Given the description of an element on the screen output the (x, y) to click on. 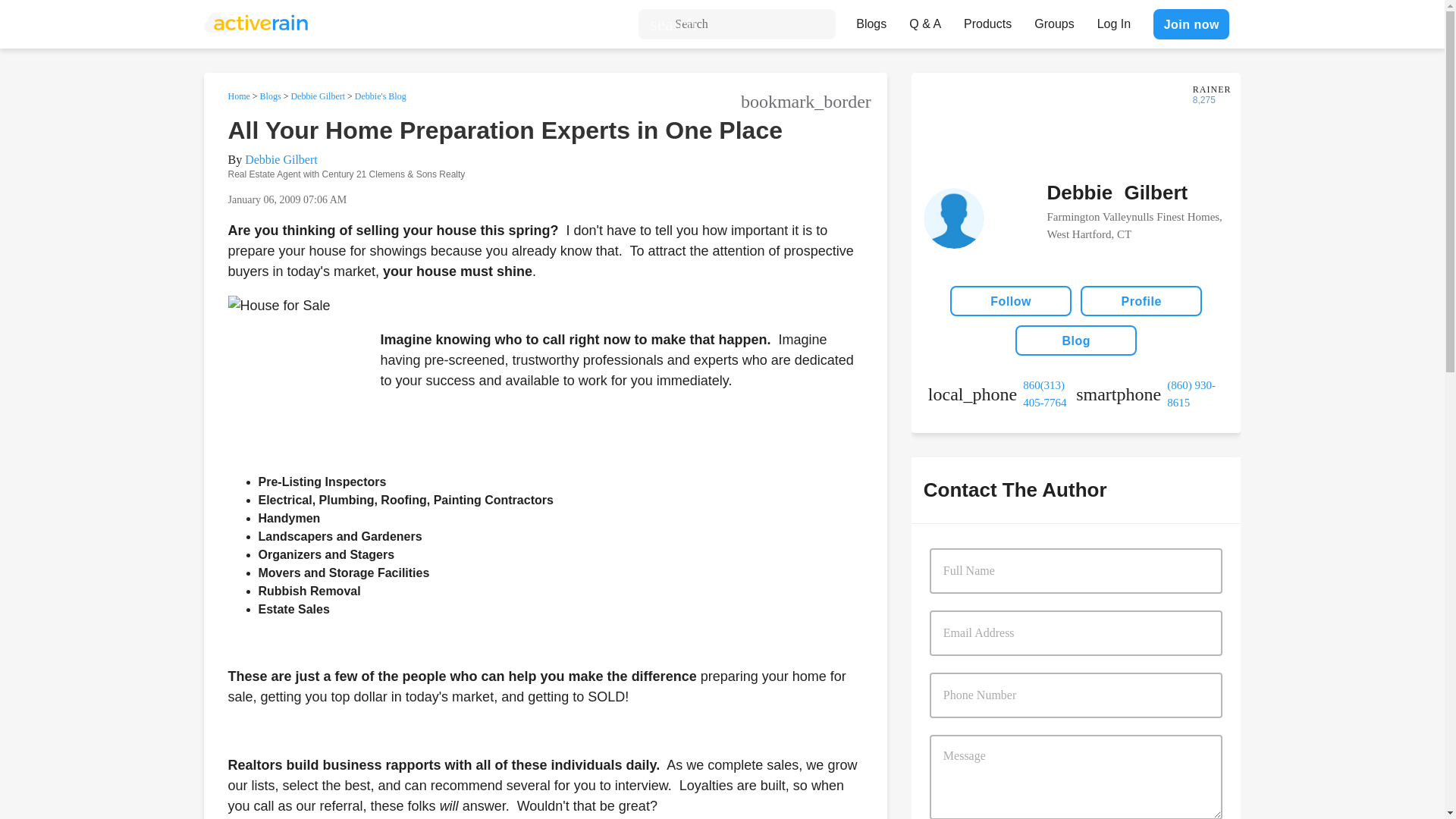
Log In (1113, 19)
Join now (1190, 24)
Blogs (270, 95)
Debbie Gilbert (280, 159)
Blogs (870, 19)
Debbie's Blog (380, 95)
Debbie Gilbert (317, 95)
Home (237, 95)
Groups (1053, 19)
work (1001, 393)
